Given the description of an element on the screen output the (x, y) to click on. 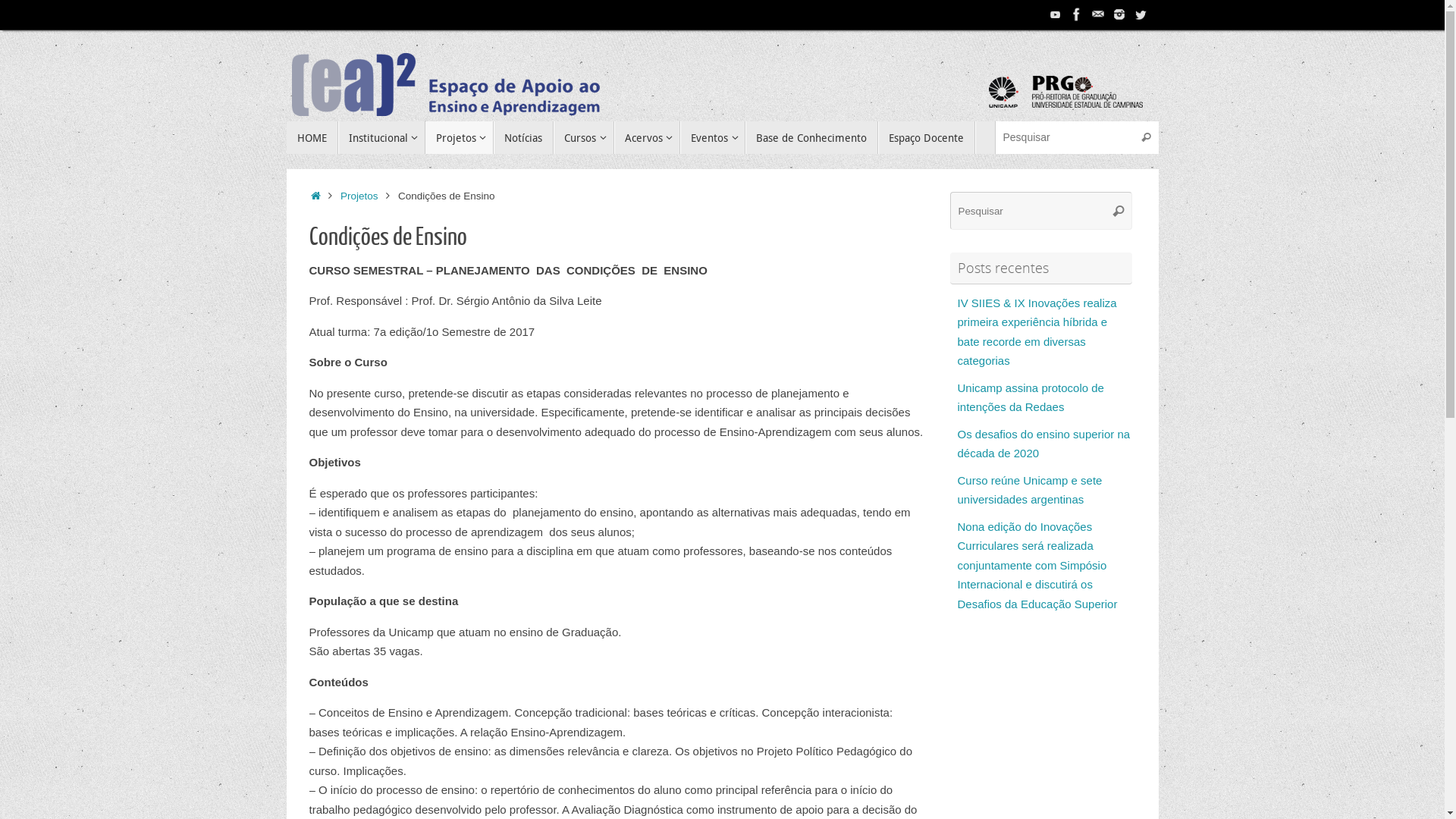
Projetos Element type: text (359, 195)
Mail Element type: hover (1097, 14)
Instagram Element type: hover (1118, 14)
Eventos Element type: text (712, 137)
Facebook Element type: hover (1076, 14)
Base de Conhecimento Element type: text (811, 137)
Acervos Element type: text (647, 137)
Twitter Element type: hover (1140, 14)
Projetos Element type: text (459, 137)
HOME Element type: text (312, 137)
YouTube Element type: hover (1055, 14)
Institucional Element type: text (381, 137)
EA2 Element type: hover (722, 75)
Cursos Element type: text (583, 137)
